Given the description of an element on the screen output the (x, y) to click on. 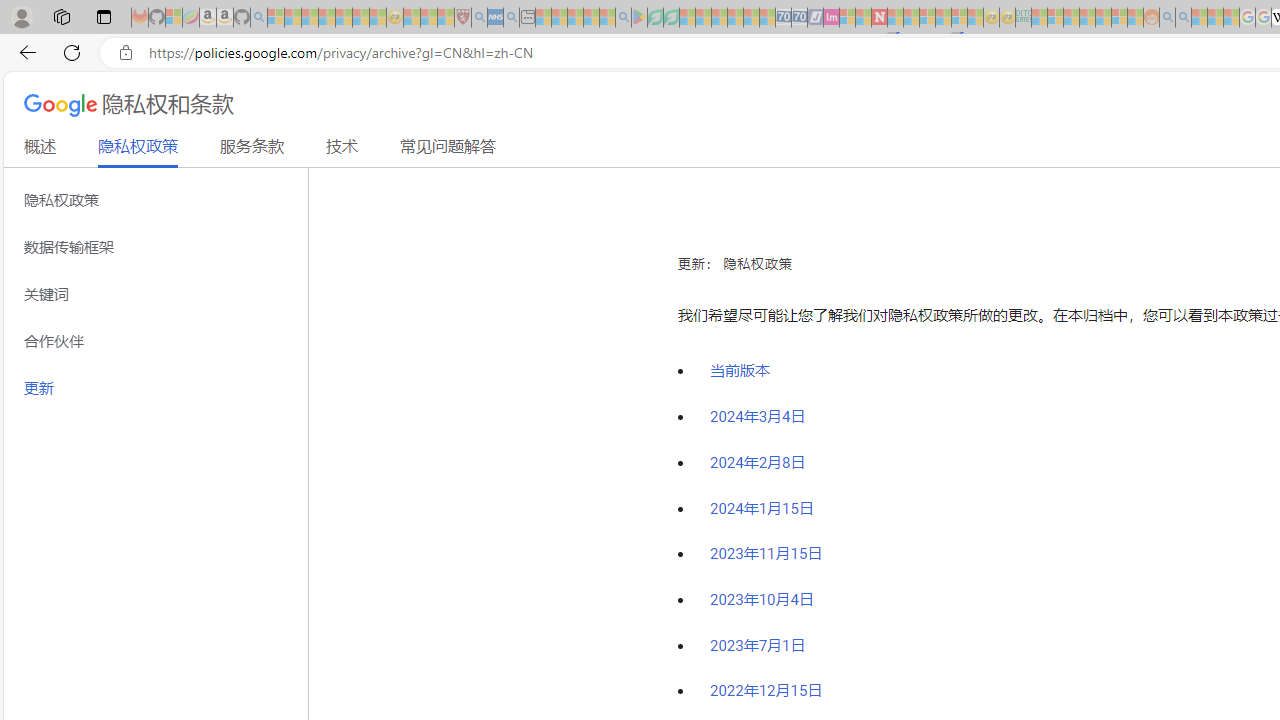
utah sues federal government - Search - Sleeping (511, 17)
